Given the description of an element on the screen output the (x, y) to click on. 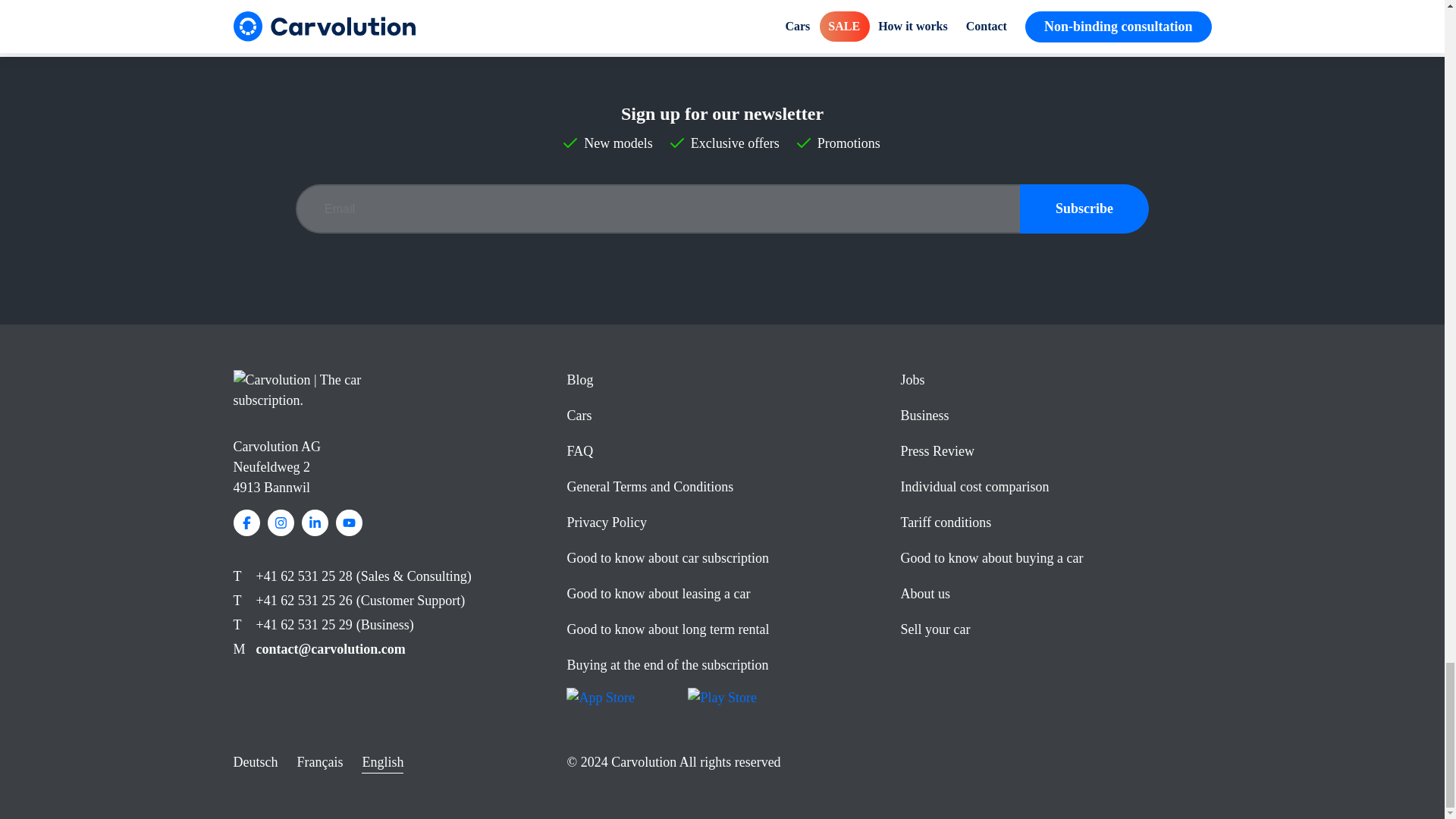
FAQ (579, 450)
Good to know about car subscription (667, 557)
Cars (578, 415)
Blog (579, 379)
Business (924, 415)
Tariff conditions (945, 522)
General Terms and Conditions (649, 486)
Individual cost comparison (973, 486)
Privacy Policy (606, 522)
Press Review (936, 450)
Jobs (911, 379)
